Given the description of an element on the screen output the (x, y) to click on. 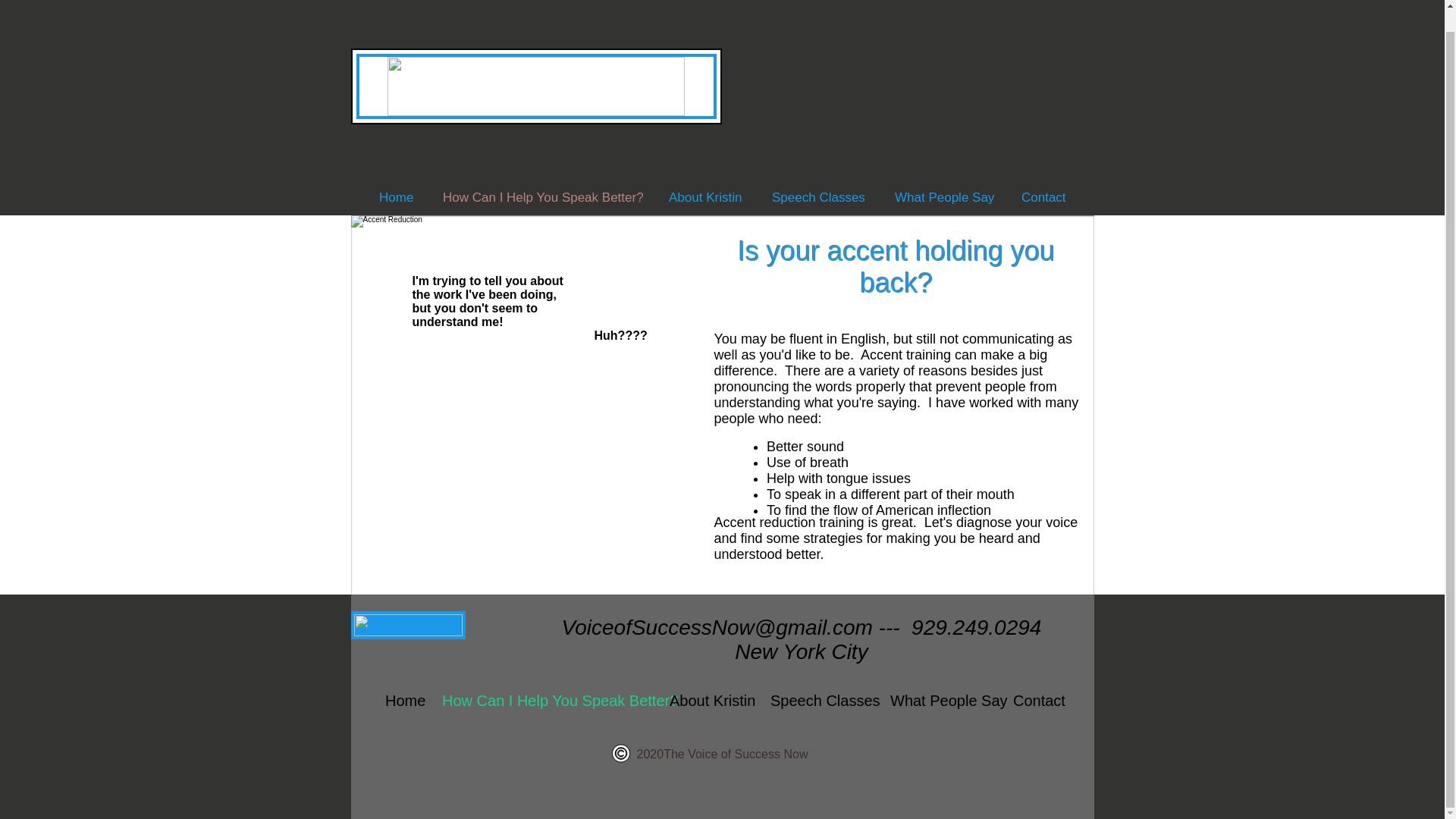
How Can I Help You Speak Better? (540, 197)
Contact (1035, 700)
Home (396, 197)
HiRes.jpg (522, 397)
How Can I Help You Speak Better? (544, 700)
Speech Classes (818, 197)
What People Say (942, 197)
Speech Classes (818, 700)
Home (402, 700)
Contact (1043, 197)
929.249.0294 (976, 627)
About Kristin (705, 197)
What People Say (940, 700)
About Kristin (708, 700)
